Given the description of an element on the screen output the (x, y) to click on. 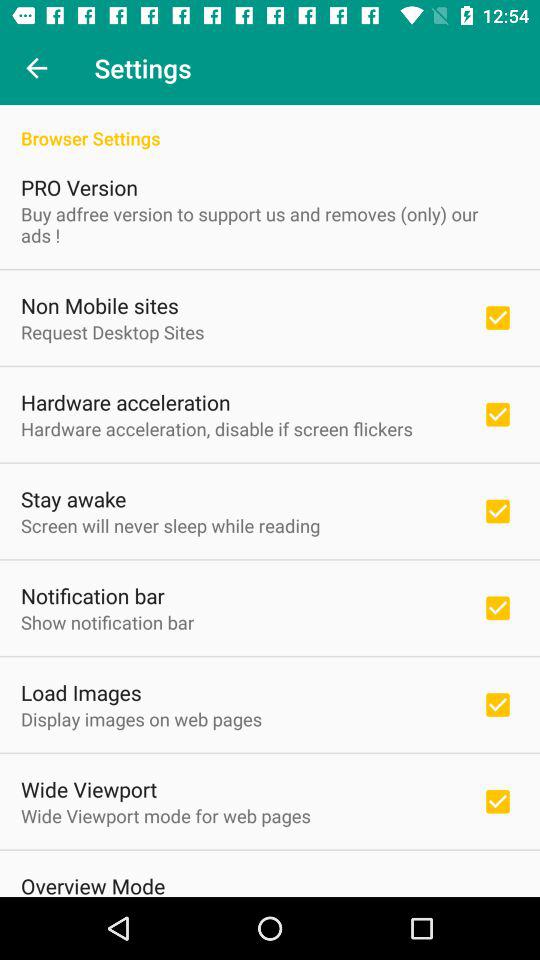
turn off the icon below the hardware acceleration disable icon (73, 498)
